Given the description of an element on the screen output the (x, y) to click on. 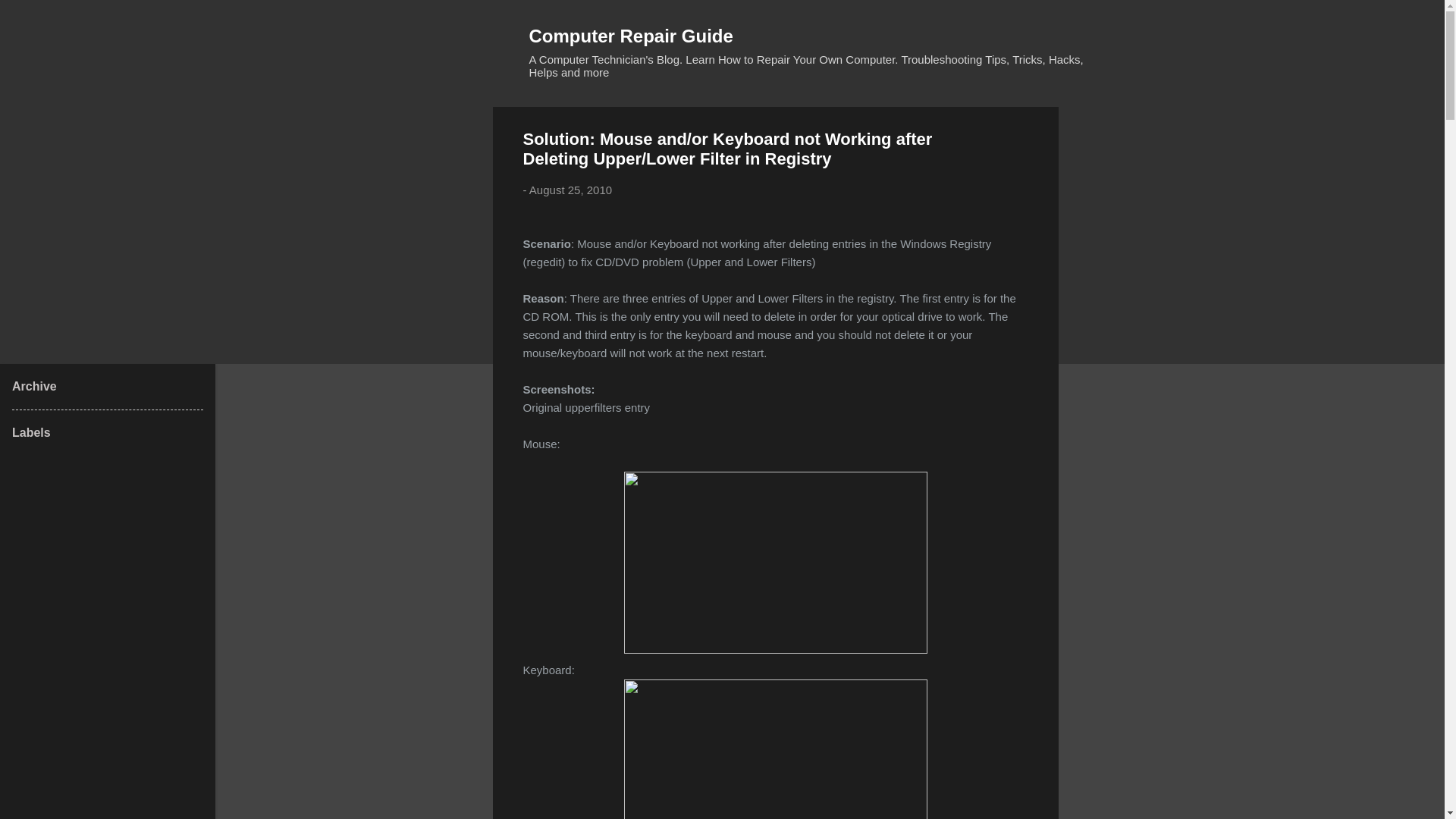
Computer Repair Guide (631, 35)
Search (29, 18)
permanent link (570, 189)
August 25, 2010 (570, 189)
